Given the description of an element on the screen output the (x, y) to click on. 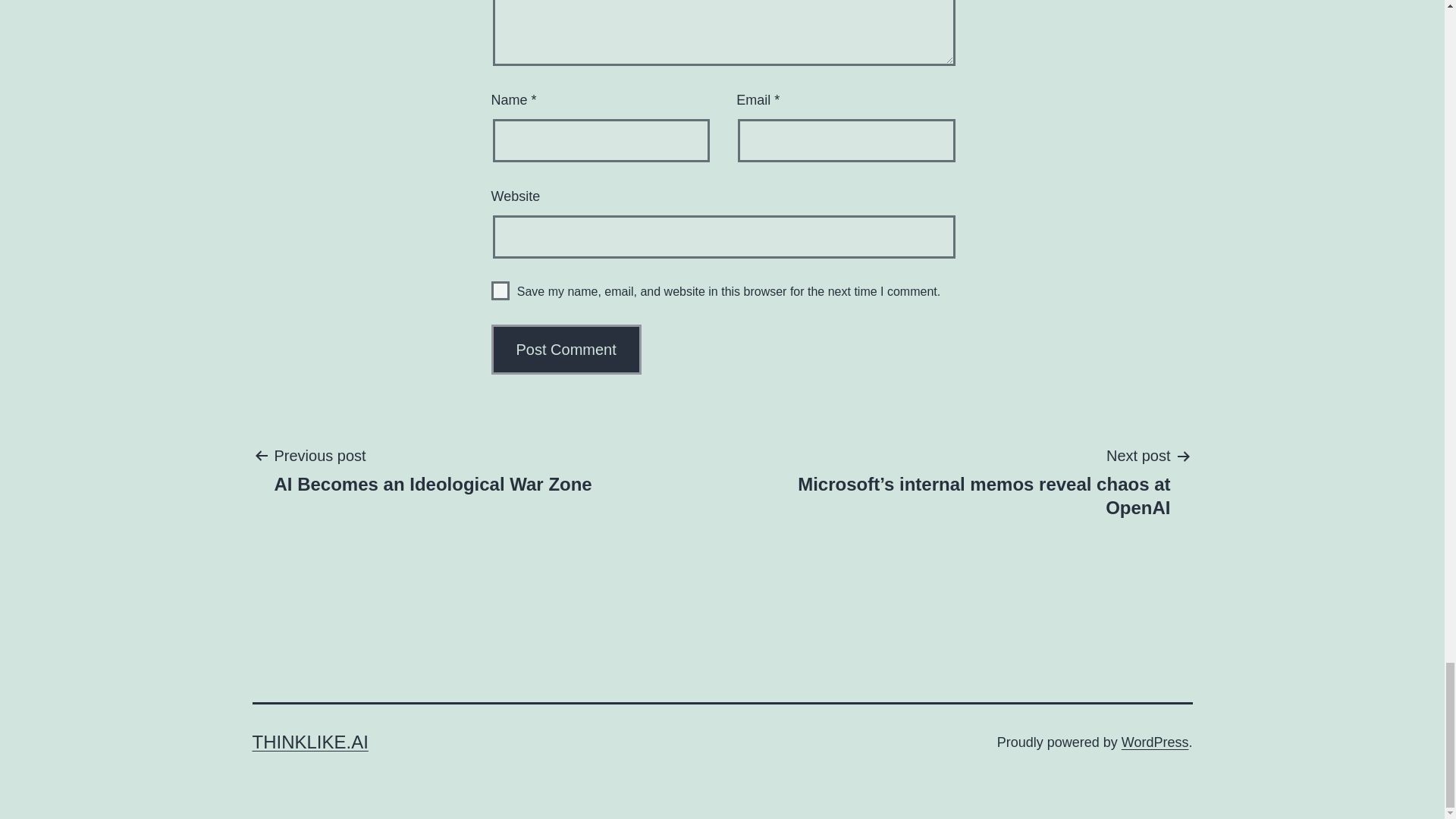
Post Comment (567, 349)
yes (500, 290)
THINKLIKE.AI (309, 742)
Post Comment (567, 349)
WordPress (1155, 742)
